Given the description of an element on the screen output the (x, y) to click on. 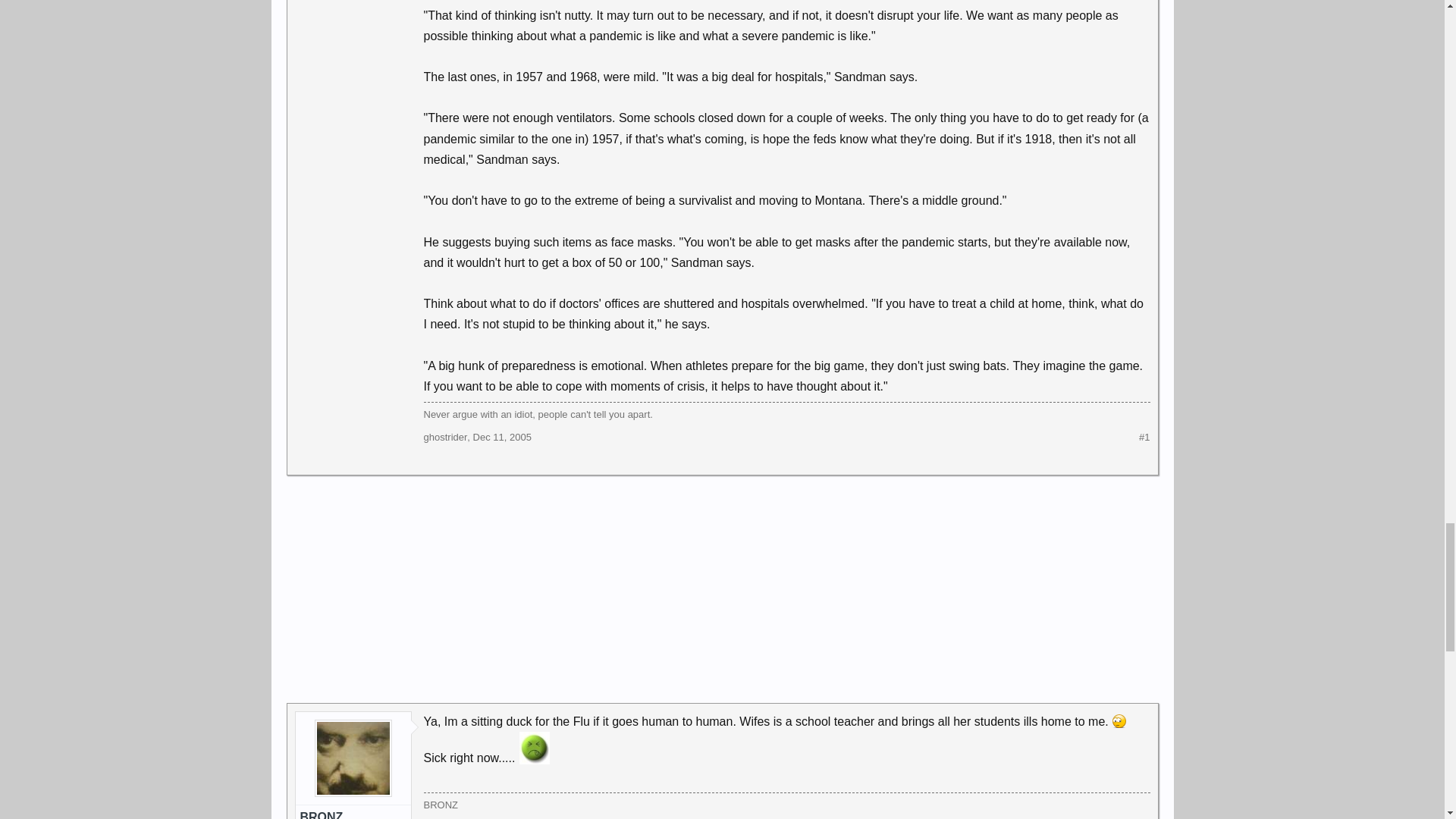
BRONZ (352, 814)
Unsure    :unsure: (1118, 721)
ghostrider (445, 437)
Permalink (502, 437)
Dec 11, 2005 (502, 437)
